Given the description of an element on the screen output the (x, y) to click on. 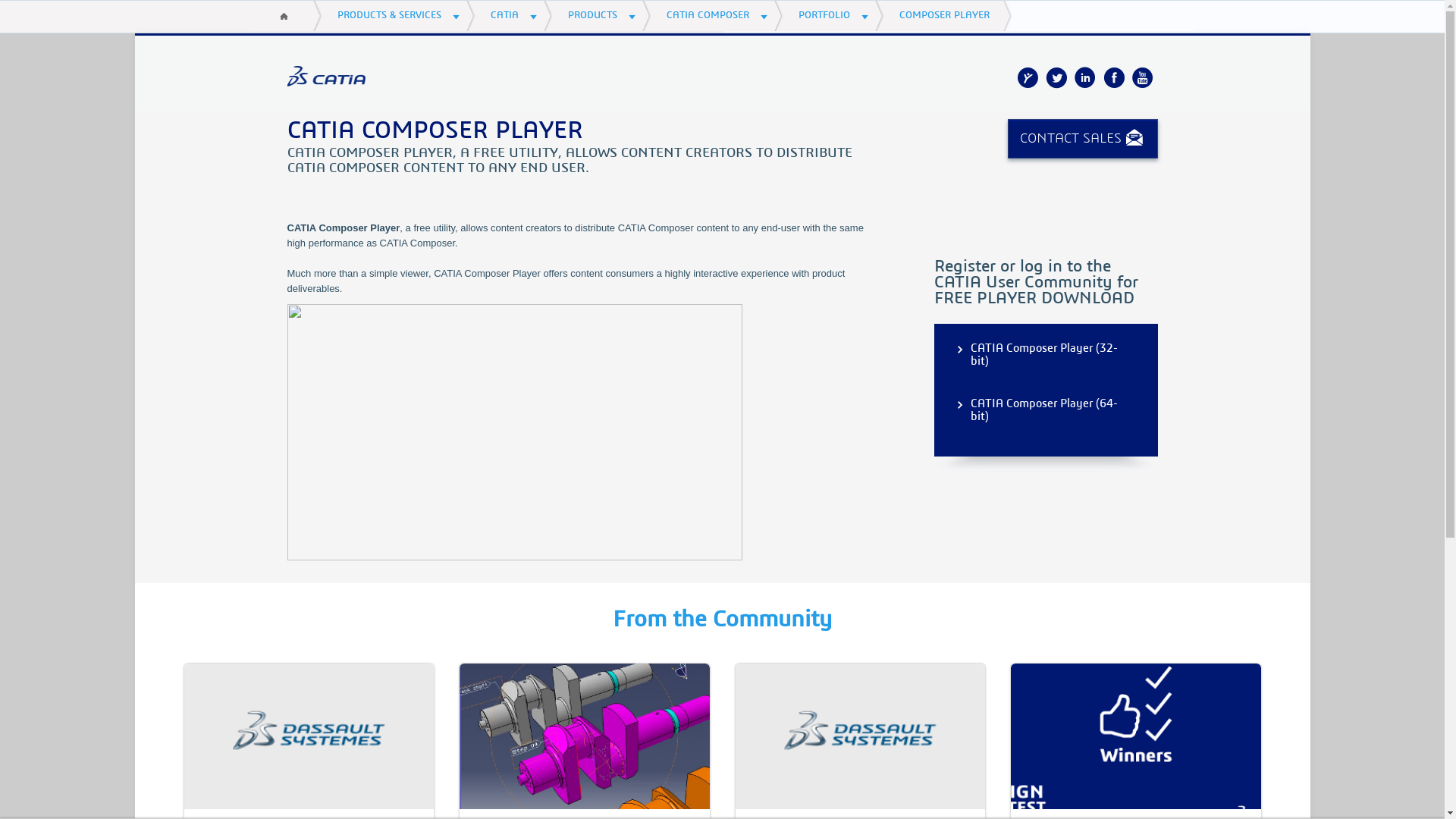
COMPOSER PLAYER Element type: text (948, 15)
CATIA Composer Player (32-bit) Element type: text (1046, 354)
From the Community Element type: text (721, 619)
PRODUCTS & SERVICES Element type: text (397, 15)
CATIA COMPOSER Element type: text (716, 15)
PORTFOLIO Element type: text (832, 15)
CATIA Composer Player (64-bit) Element type: text (1046, 410)
CONTACT SALES Element type: text (1082, 138)
CATIA Element type: text (513, 15)
PRODUCTS Element type: text (601, 15)
